Given the description of an element on the screen output the (x, y) to click on. 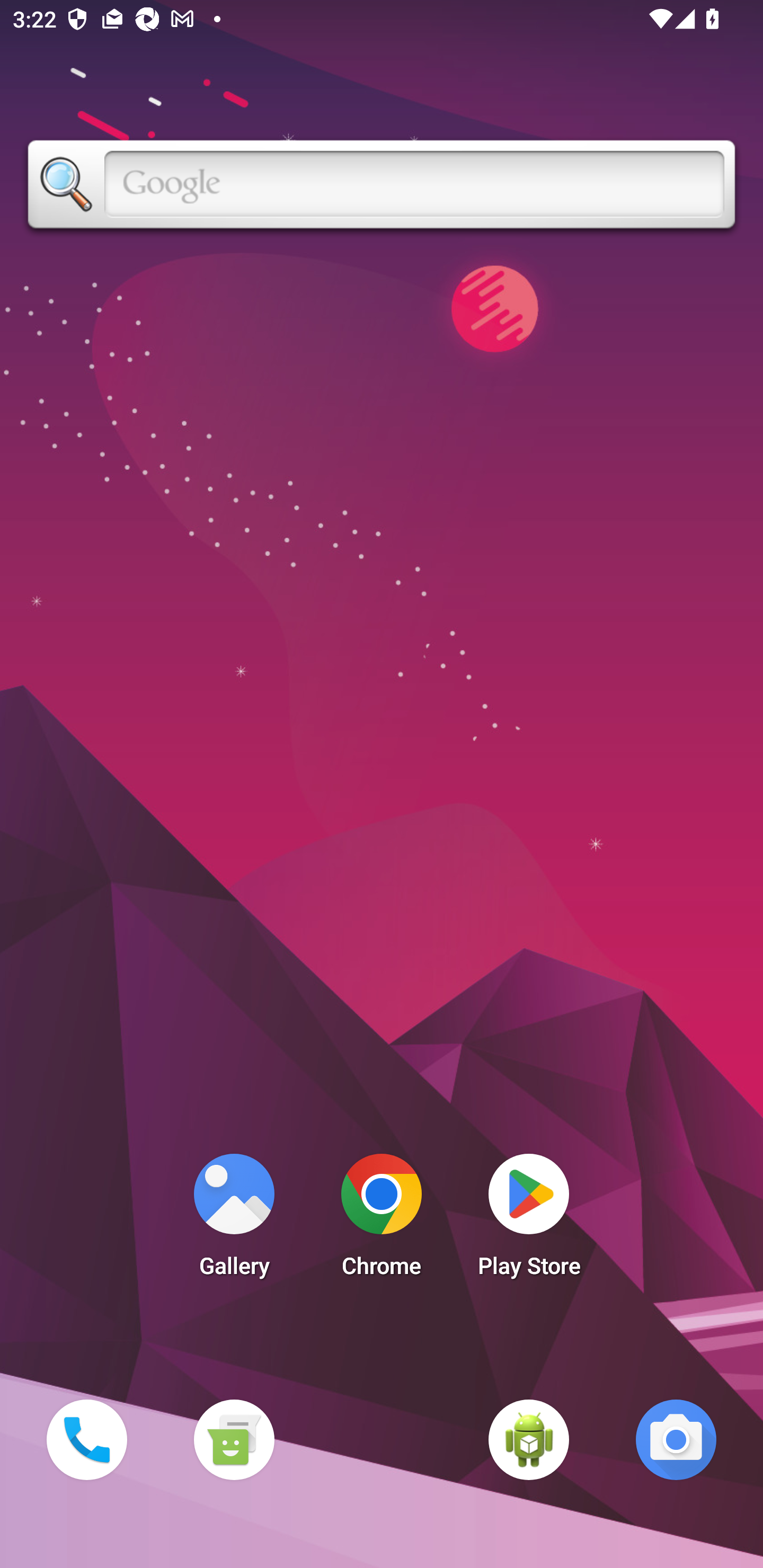
Gallery (233, 1220)
Chrome (381, 1220)
Play Store (528, 1220)
Phone (86, 1439)
Messaging (233, 1439)
WebView Browser Tester (528, 1439)
Camera (676, 1439)
